Given the description of an element on the screen output the (x, y) to click on. 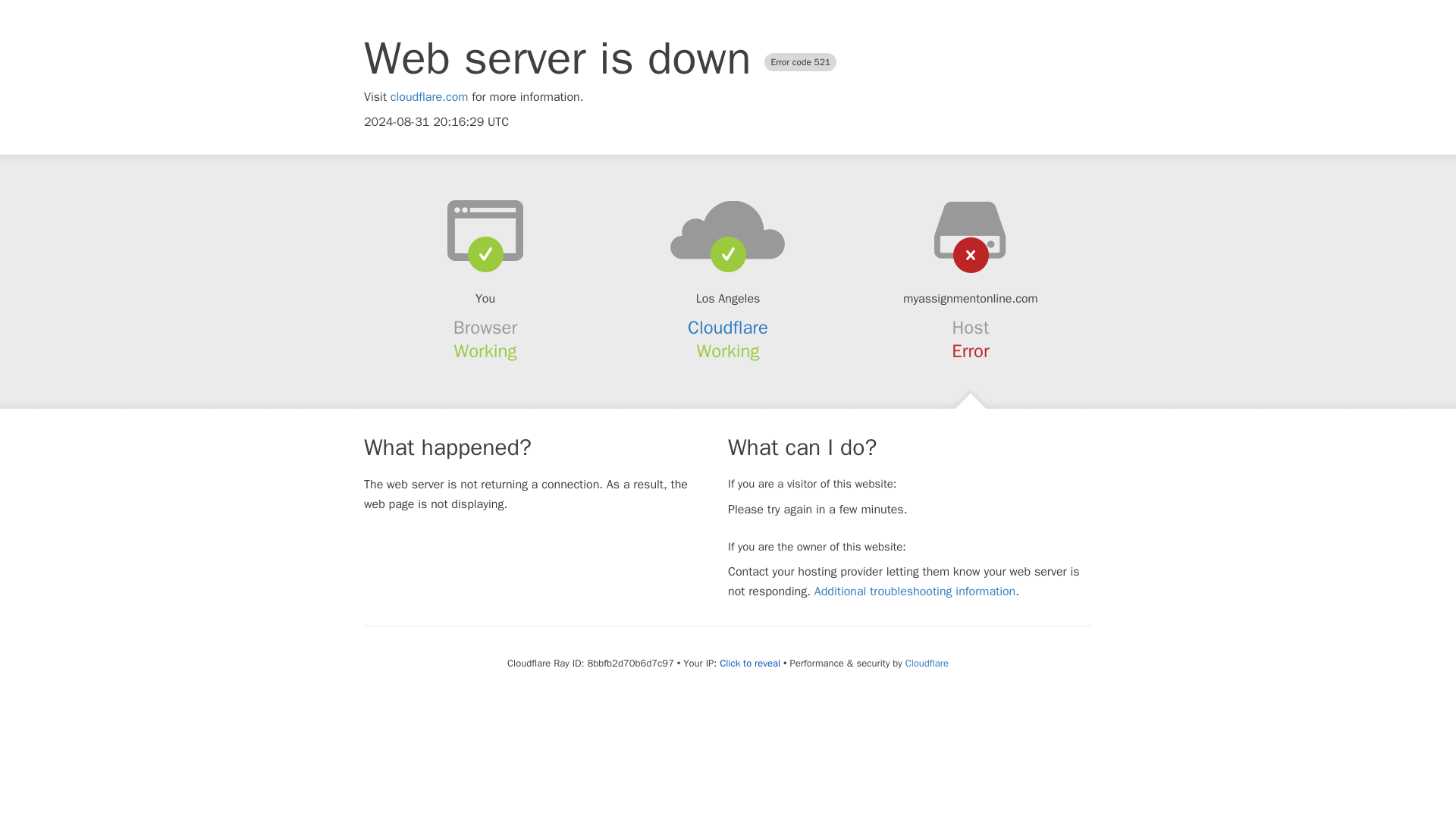
cloudflare.com (429, 96)
Additional troubleshooting information (913, 590)
Cloudflare (927, 662)
Click to reveal (749, 663)
Cloudflare (727, 327)
